Given the description of an element on the screen output the (x, y) to click on. 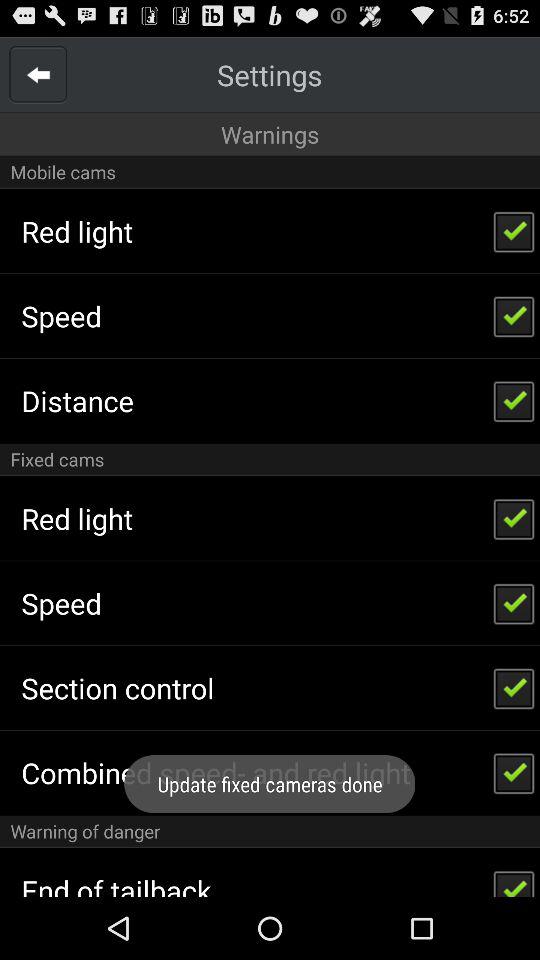
return to the previous screen (38, 74)
